Given the description of an element on the screen output the (x, y) to click on. 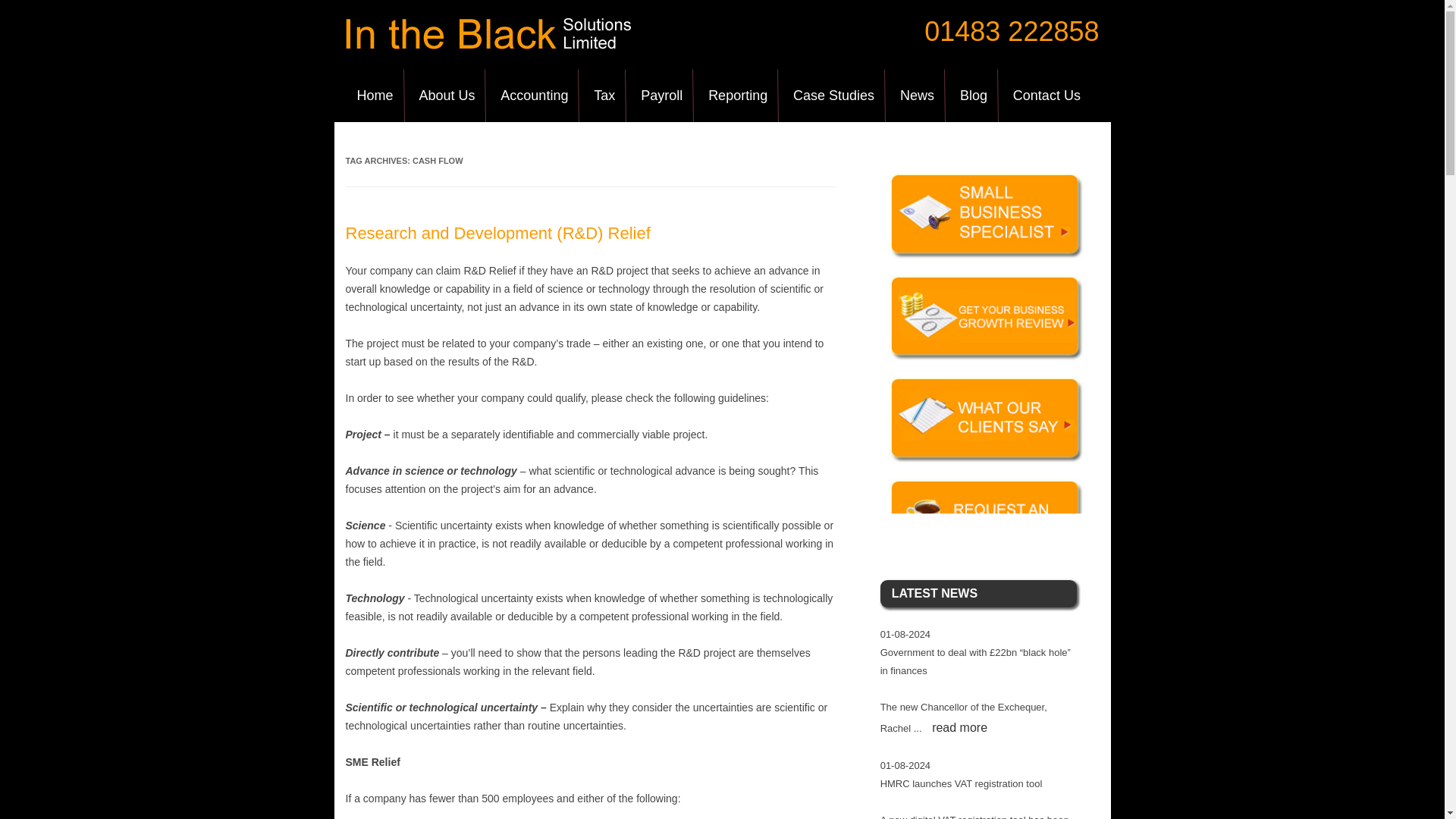
Blog (973, 95)
Accounting (534, 95)
Case Studies (833, 95)
Payroll (661, 95)
Reporting (737, 95)
About Us (446, 95)
In the Black Solutions Limited (488, 45)
Skip to content (757, 73)
Home (375, 95)
Skip to content (757, 73)
Contact Us (1046, 95)
News (916, 95)
